Given the description of an element on the screen output the (x, y) to click on. 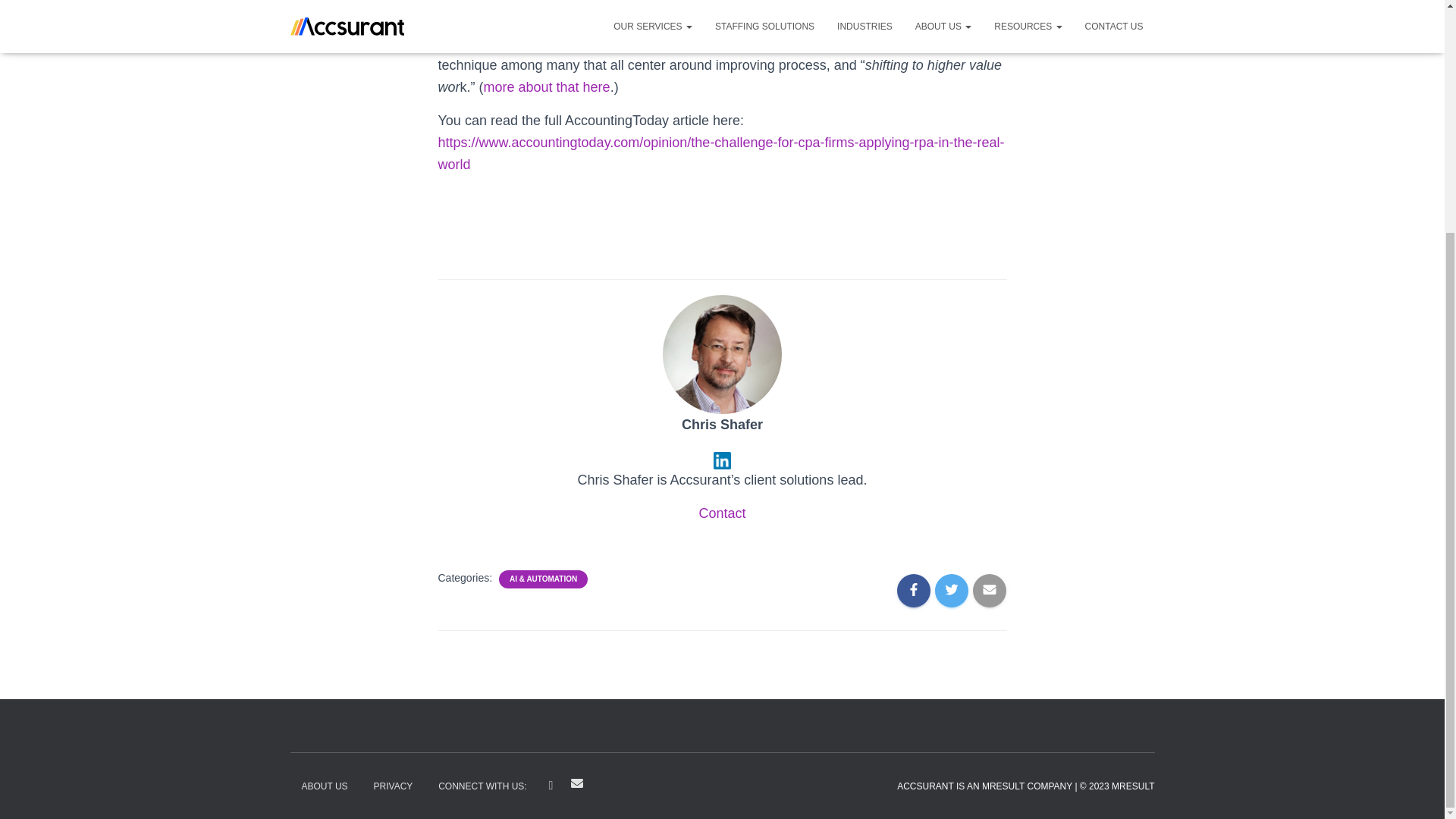
Contact (721, 513)
more about that here (546, 87)
CONNECT WITH US: (481, 786)
ABOUT US (323, 786)
LINKEDIN (550, 785)
EMAIL US (577, 782)
PRIVACY (393, 786)
